Given the description of an element on the screen output the (x, y) to click on. 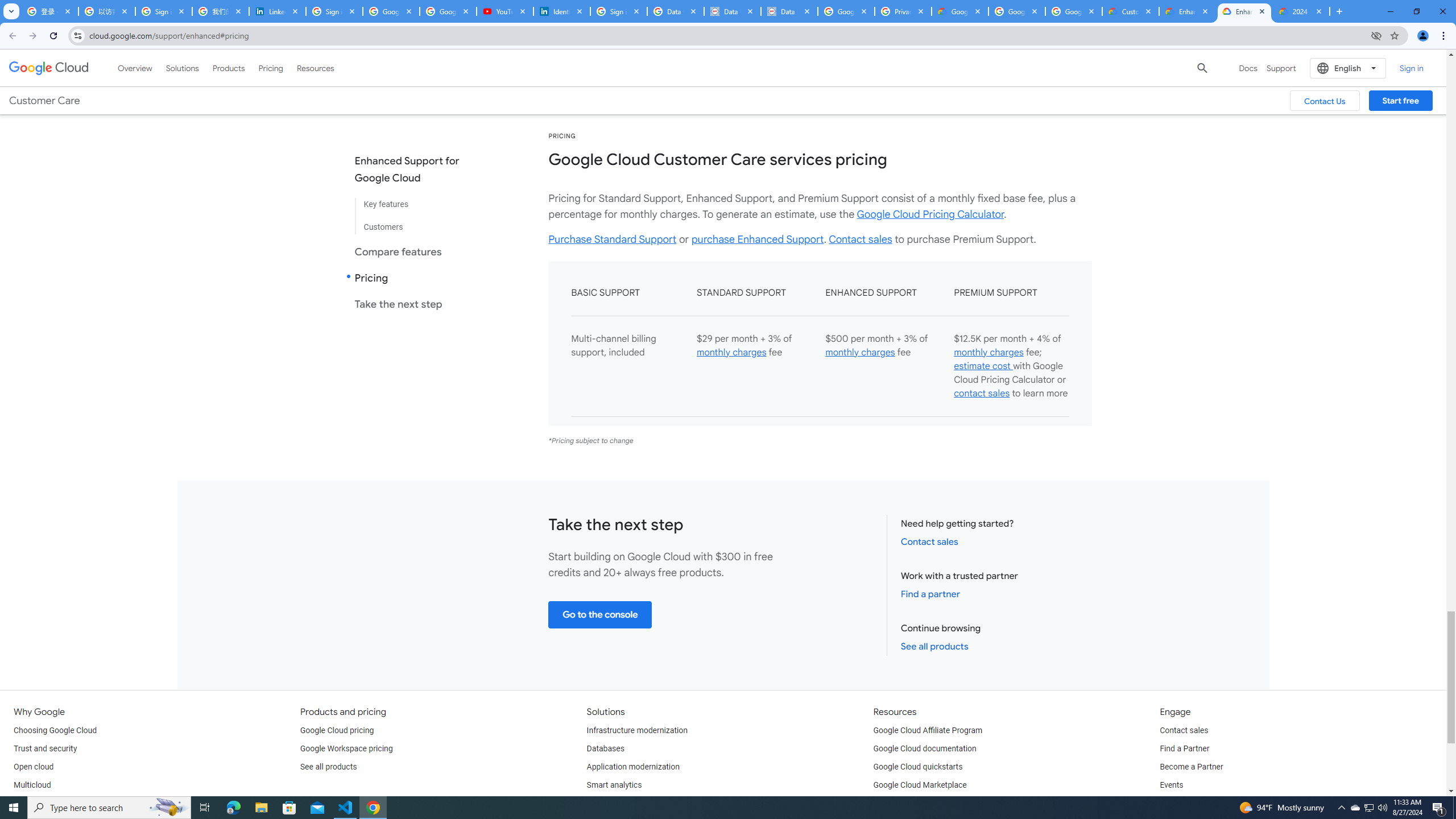
Purchase Standard Support (612, 238)
